Given the description of an element on the screen output the (x, y) to click on. 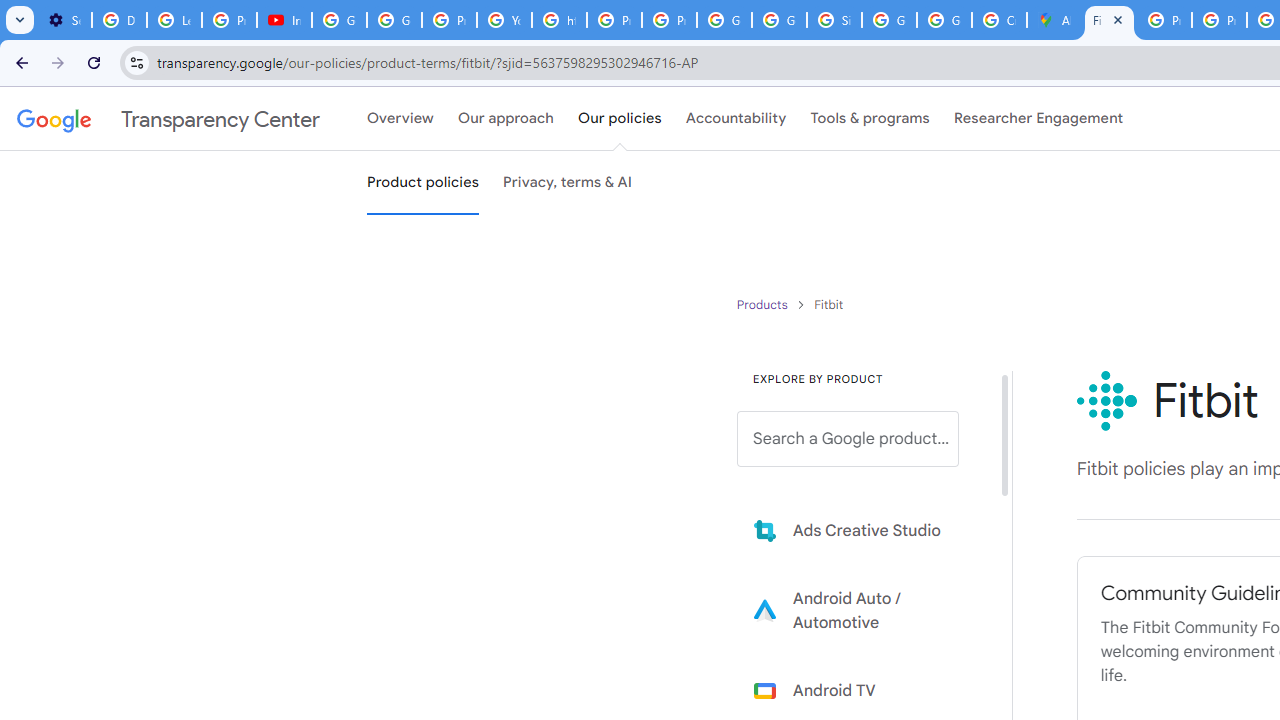
Learn more about Android Auto (862, 610)
